Given the description of an element on the screen output the (x, y) to click on. 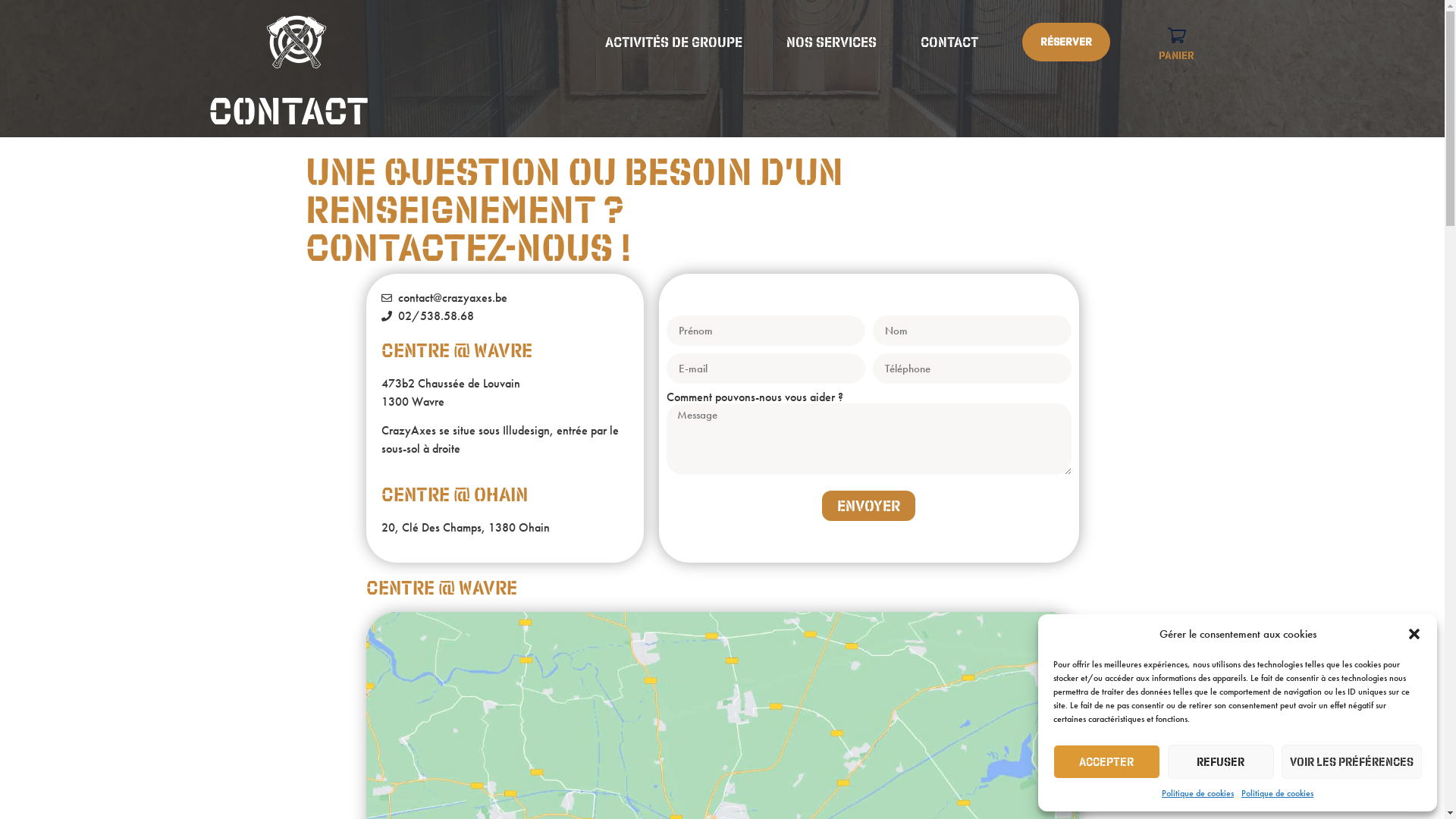
contact@crazyaxes.be Element type: text (503, 297)
Panier Element type: text (1176, 41)
Accepter Element type: text (1106, 761)
Refuser Element type: text (1220, 761)
Panier Element type: text (1176, 41)
Politique de cookies Element type: text (1197, 793)
Envoyer Element type: text (868, 505)
Contact Element type: text (949, 41)
02/538.58.68 Element type: text (503, 316)
Nos services Element type: text (831, 41)
Politique de cookies Element type: text (1277, 793)
